Given the description of an element on the screen output the (x, y) to click on. 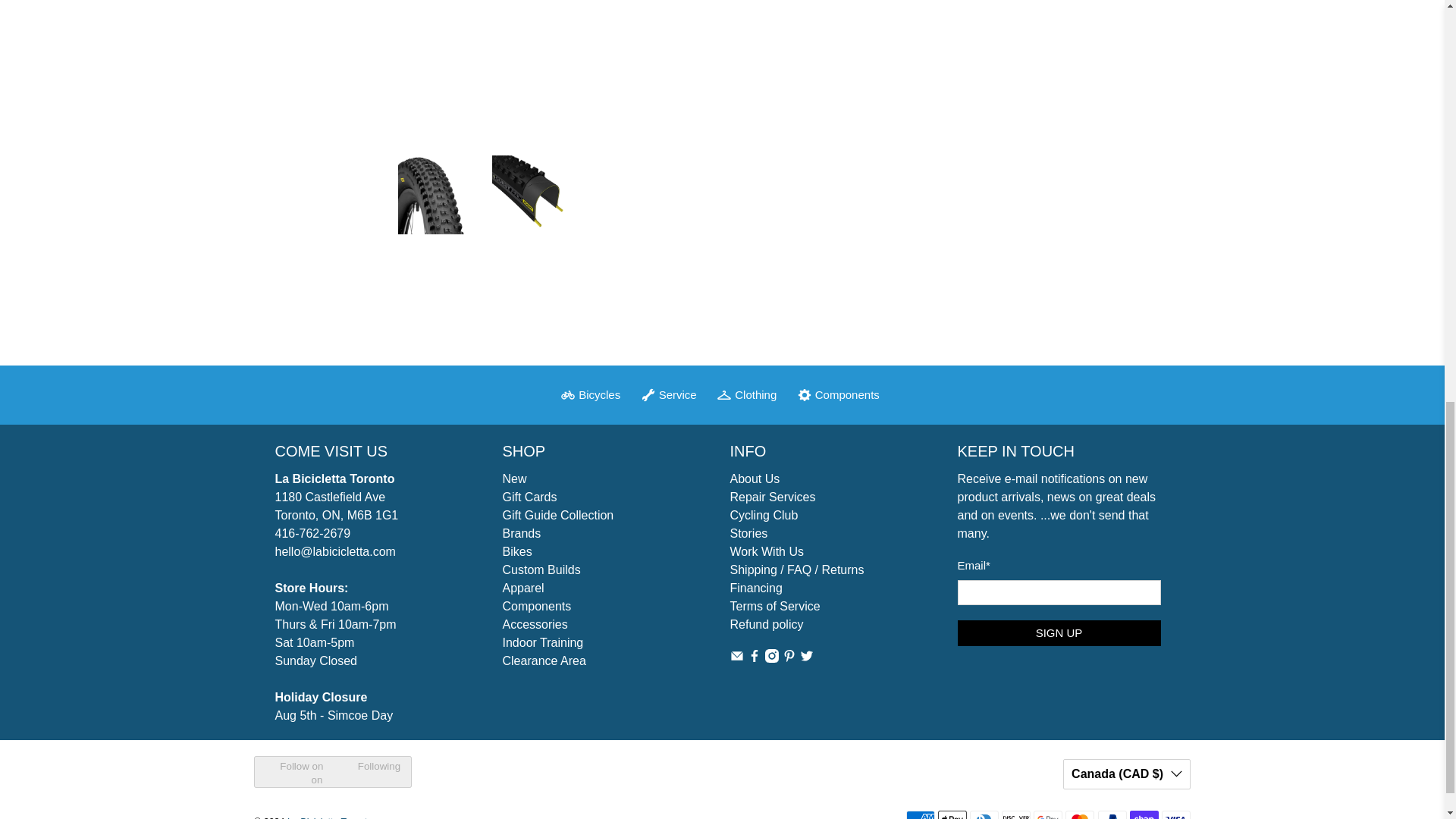
American Express (919, 814)
Email La Bicicletta Toronto (735, 658)
